Given the description of an element on the screen output the (x, y) to click on. 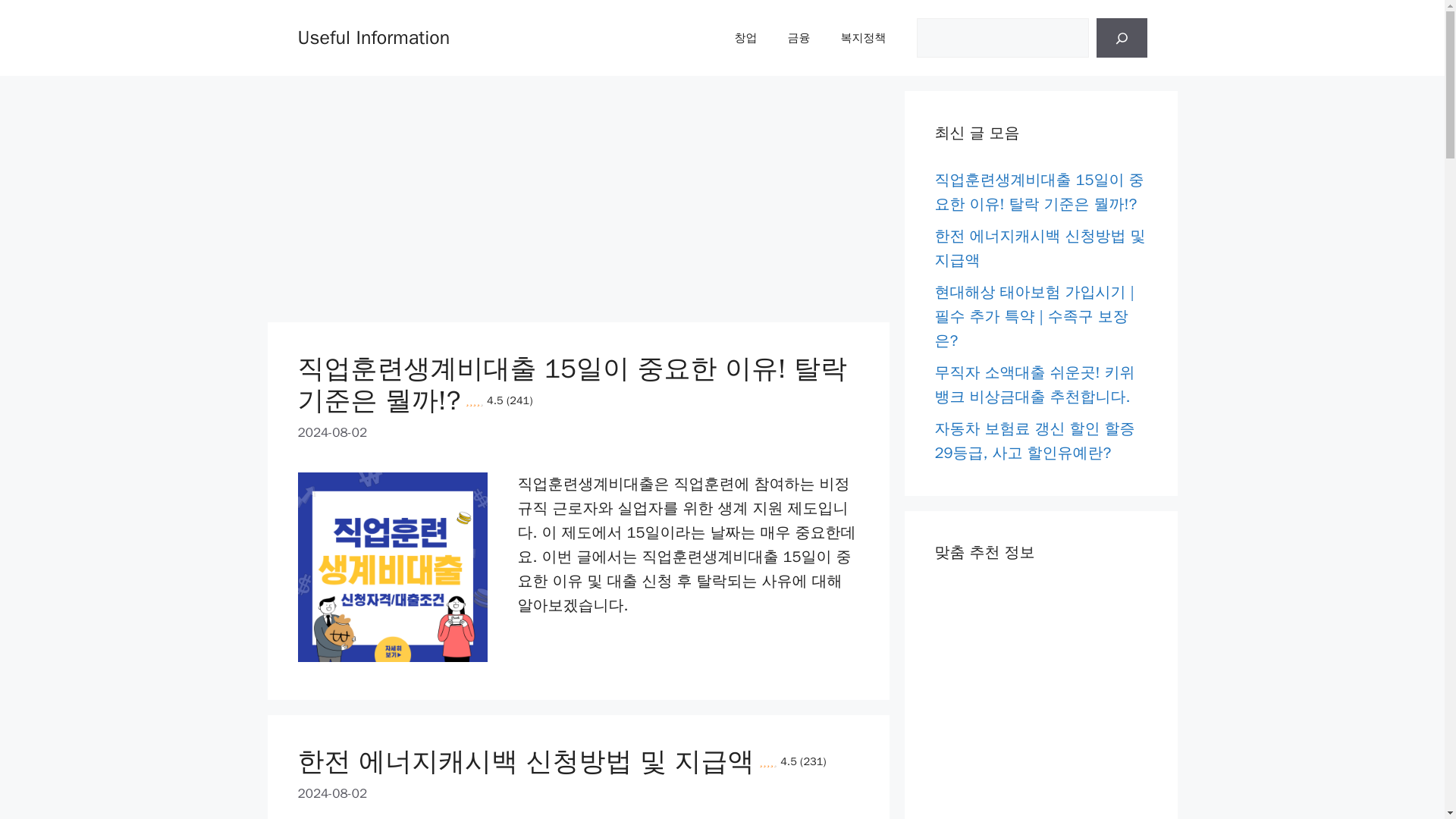
Advertisement (1040, 703)
Advertisement (441, 196)
Useful Information (373, 37)
Advertisement (715, 196)
